Given the description of an element on the screen output the (x, y) to click on. 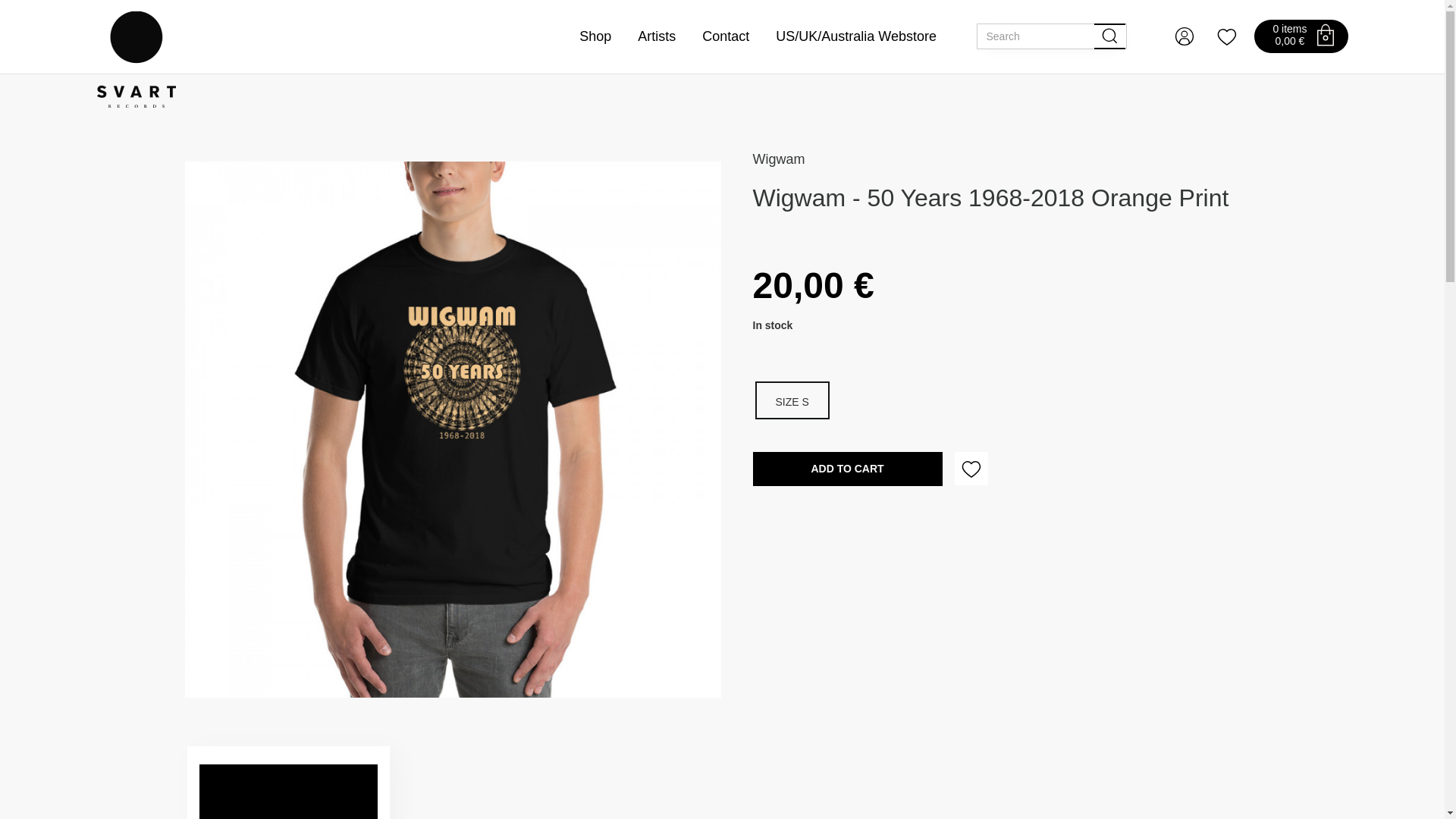
Contact (725, 36)
Shop (595, 36)
Artists (656, 36)
cart (1325, 34)
search (1109, 36)
Log in (1184, 36)
wishlist (1226, 36)
